Given the description of an element on the screen output the (x, y) to click on. 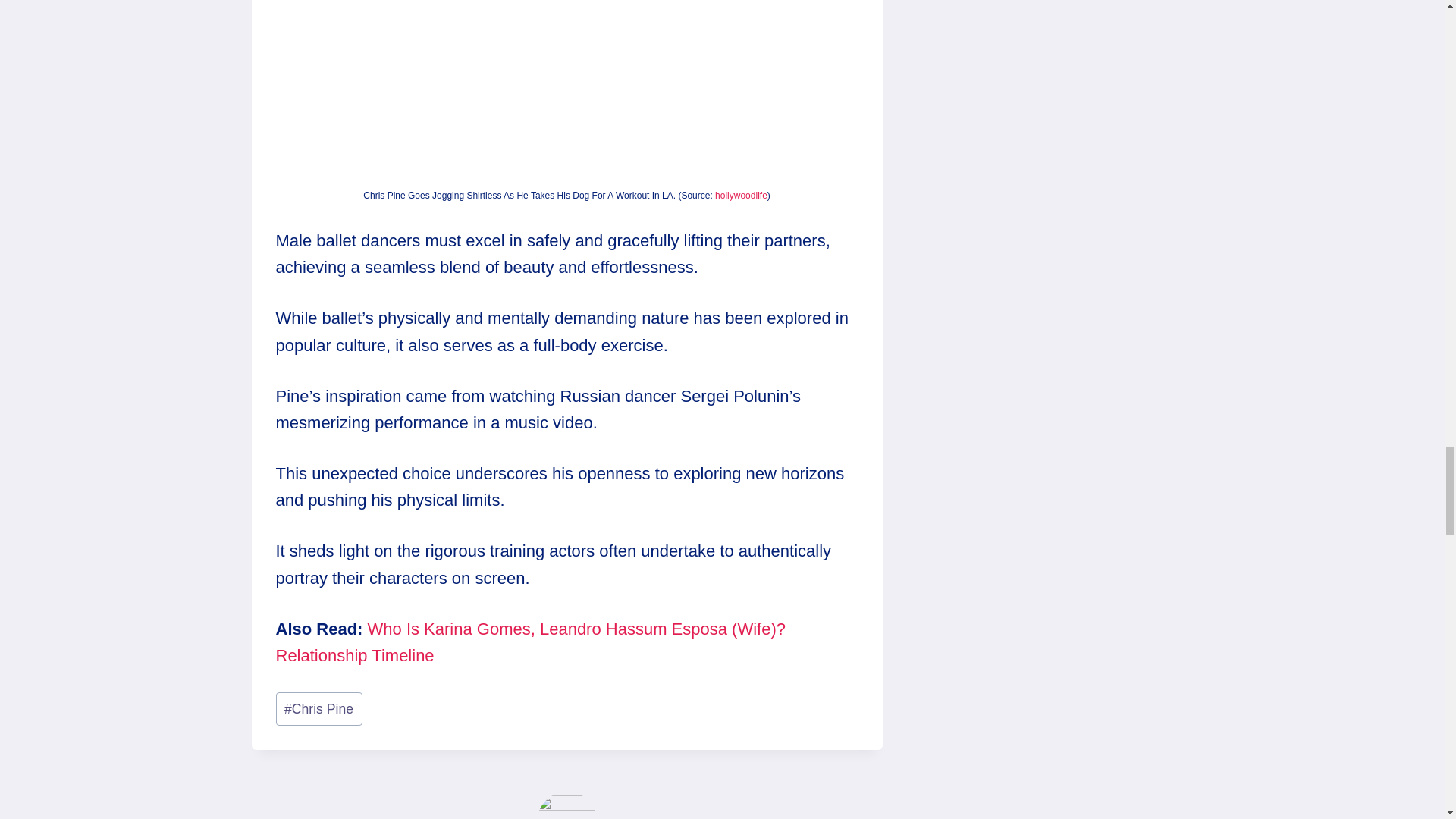
Chris Pine (319, 708)
hollywoodlife (740, 195)
